Given the description of an element on the screen output the (x, y) to click on. 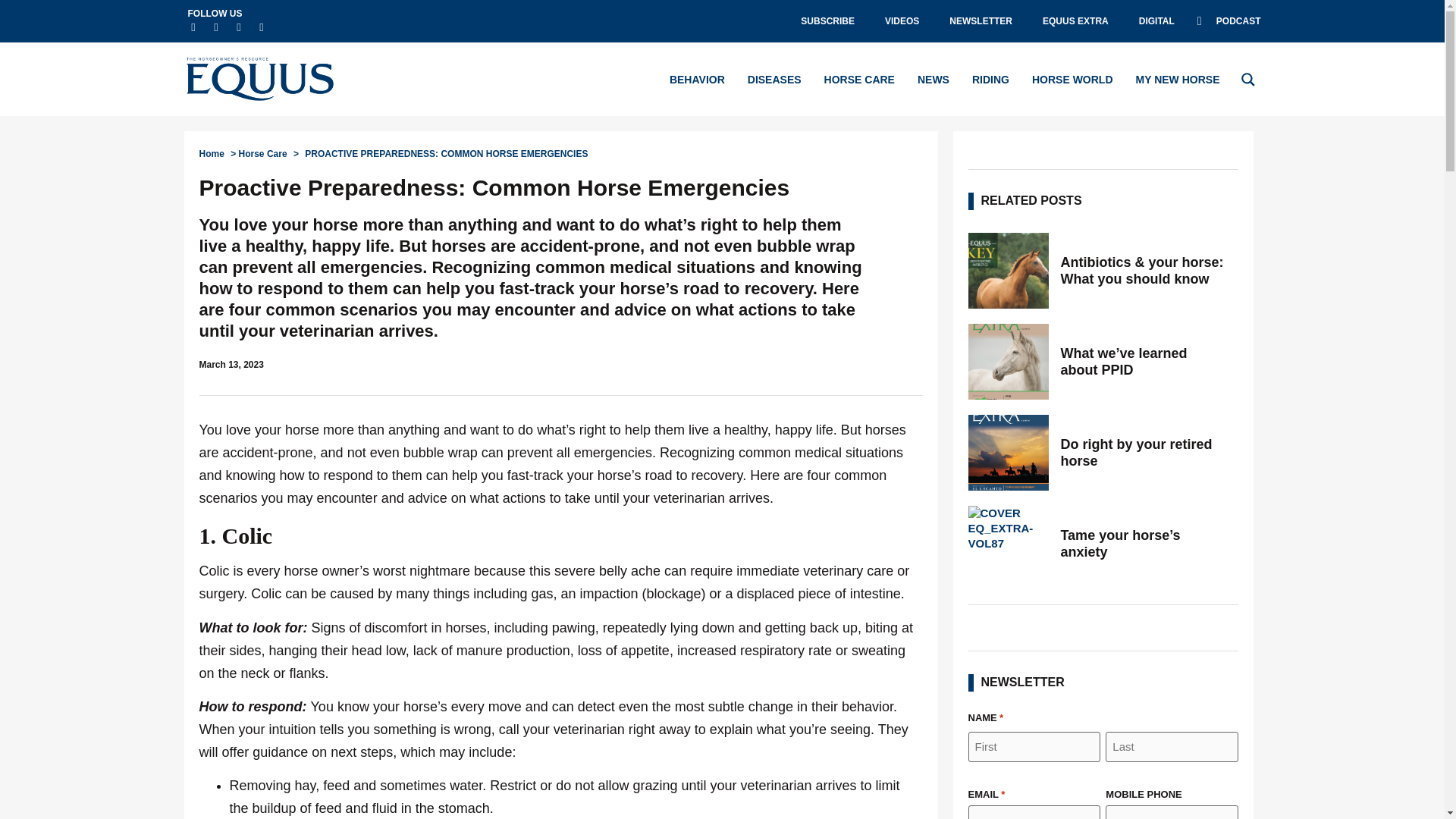
PODCAST (1228, 20)
BEHAVIOR (697, 79)
DIGITAL (1156, 21)
Do right by your retired horse (1143, 452)
VIDEOS (901, 21)
NEWS (933, 79)
DISEASES (775, 79)
SUBSCRIBE (827, 21)
NEWSLETTER (980, 21)
EQUUS EXTRA (1075, 21)
